Given the description of an element on the screen output the (x, y) to click on. 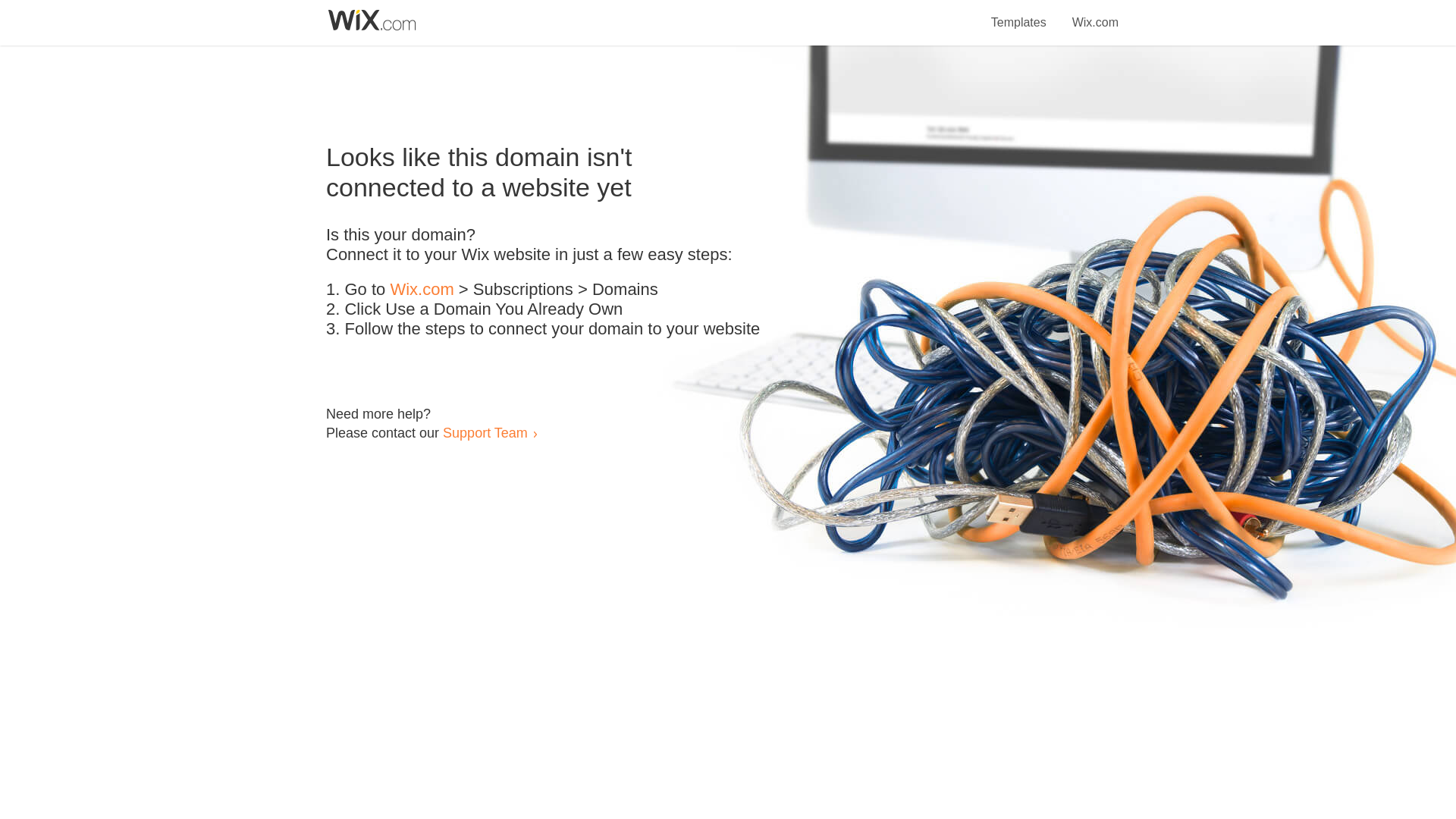
Wix.com (1095, 14)
Support Team (484, 432)
Templates (1018, 14)
Wix.com (421, 289)
